Given the description of an element on the screen output the (x, y) to click on. 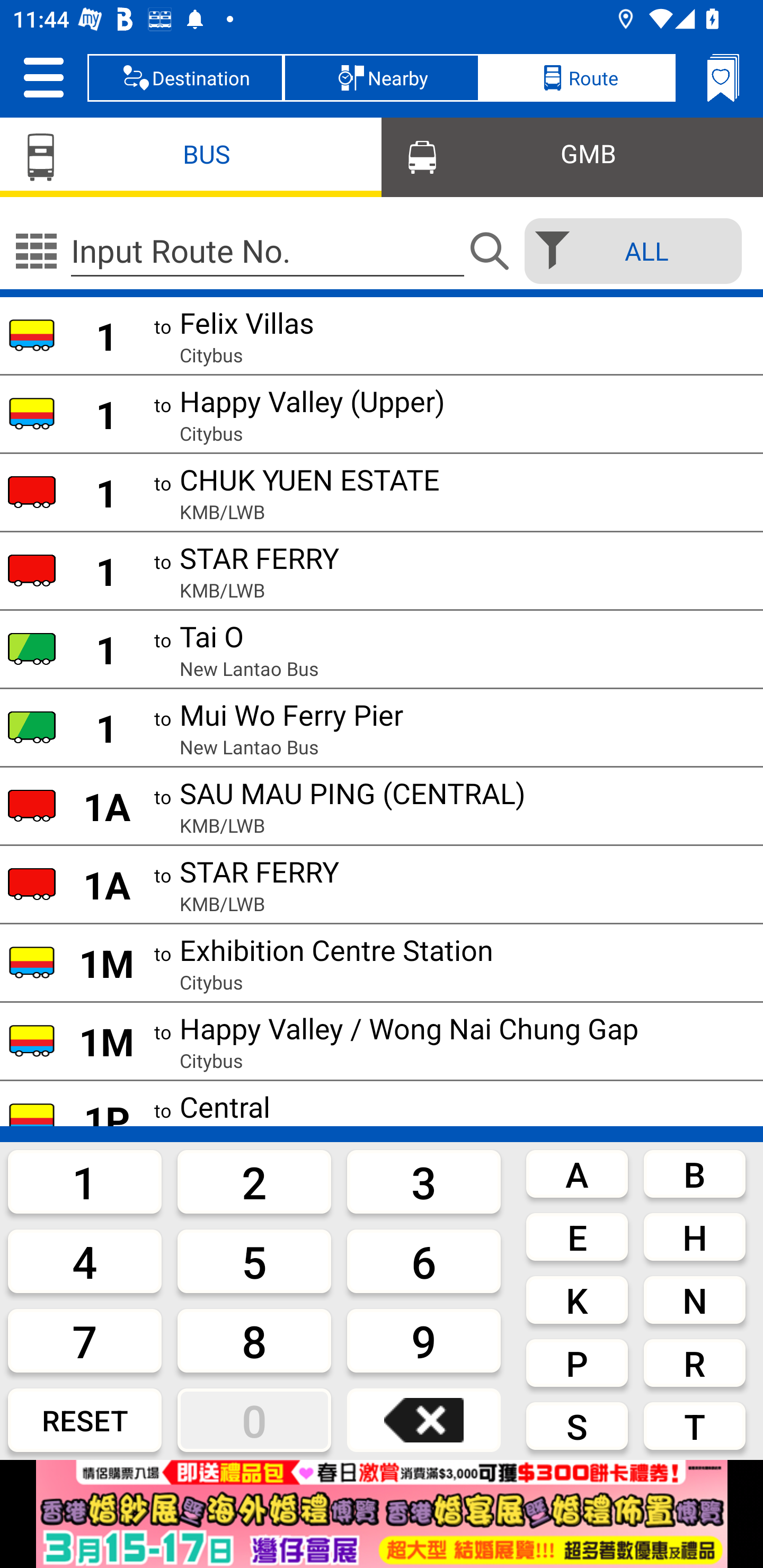
Destination (185, 77)
Nearby (381, 77)
Route, selected (577, 77)
Bookmarks (723, 77)
Setting (43, 77)
BUS, selected (190, 155)
GMB (572, 155)
selected ALL (627, 250)
no (36, 250)
1 (84, 1181)
2 (254, 1181)
3 (423, 1181)
A (576, 1173)
B (694, 1173)
E (576, 1236)
H (694, 1236)
4 (84, 1261)
5 (254, 1261)
6 (423, 1261)
K (576, 1299)
N (694, 1299)
7 (84, 1340)
8 (254, 1340)
9 (423, 1340)
P (576, 1362)
R (694, 1362)
RESET (84, 1419)
0 (254, 1419)
S (576, 1425)
T (694, 1425)
index (381, 1513)
